Given the description of an element on the screen output the (x, y) to click on. 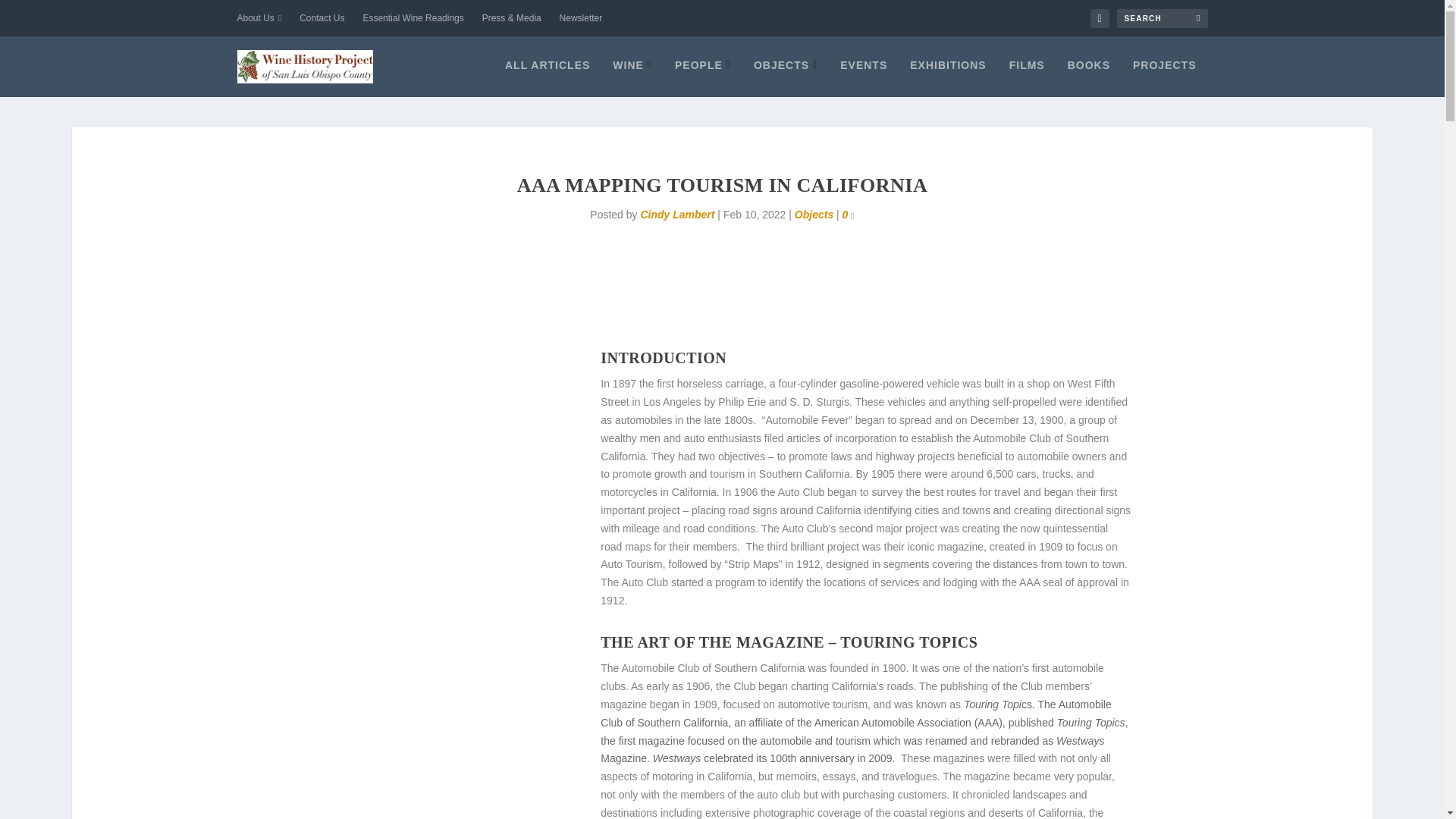
Essential Wine Readings (412, 18)
Westways Magazine Cover (433, 716)
WINE (632, 77)
Newsletter (580, 18)
Contact Us (321, 18)
Magazine Cover (433, 469)
Posts by Cindy Lambert (677, 214)
Search for: (1161, 18)
About Us (258, 18)
ALL ARTICLES (547, 77)
